Given the description of an element on the screen output the (x, y) to click on. 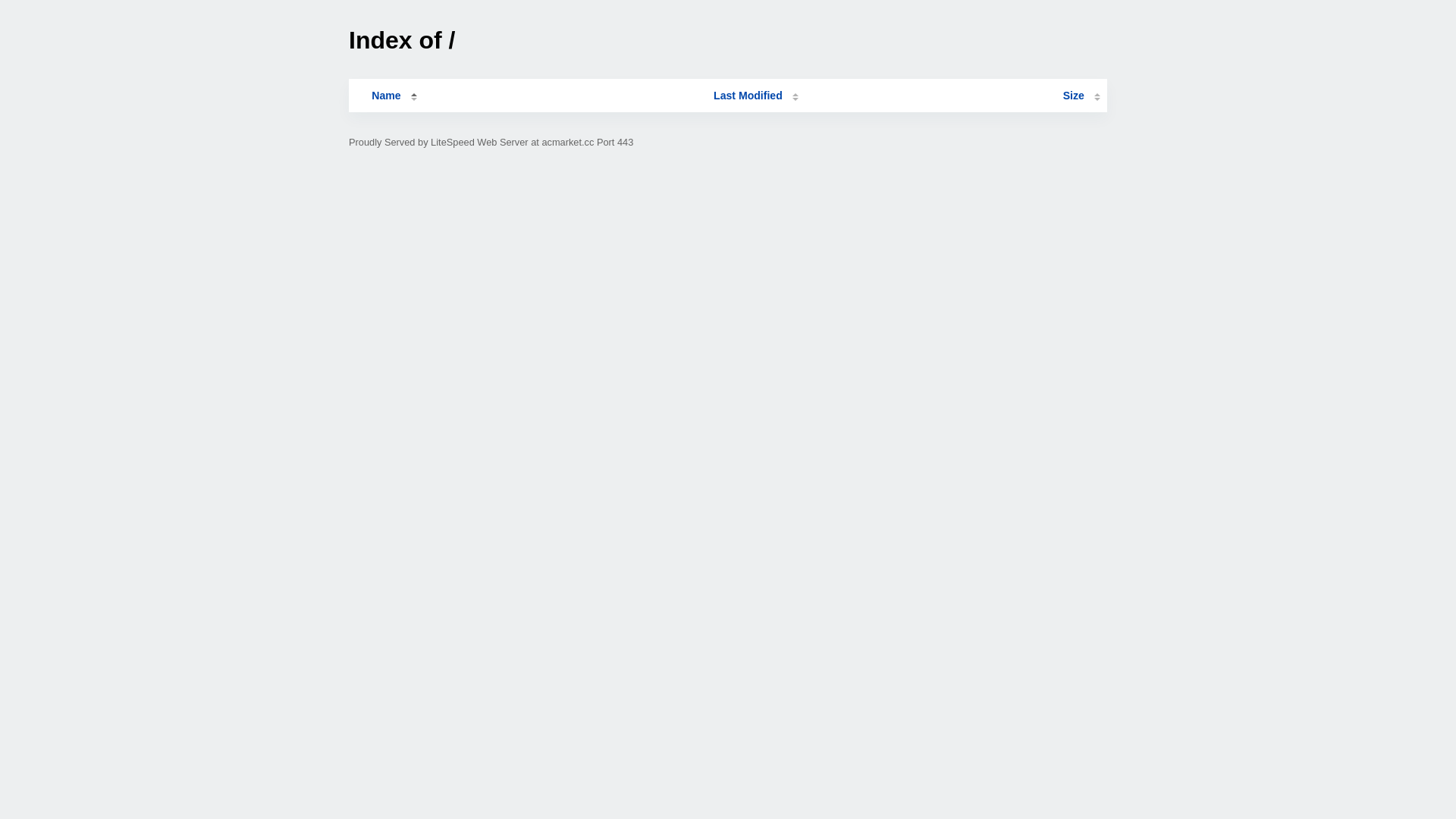
Size Element type: text (1081, 95)
Last Modified Element type: text (755, 95)
Name Element type: text (385, 95)
